Given the description of an element on the screen output the (x, y) to click on. 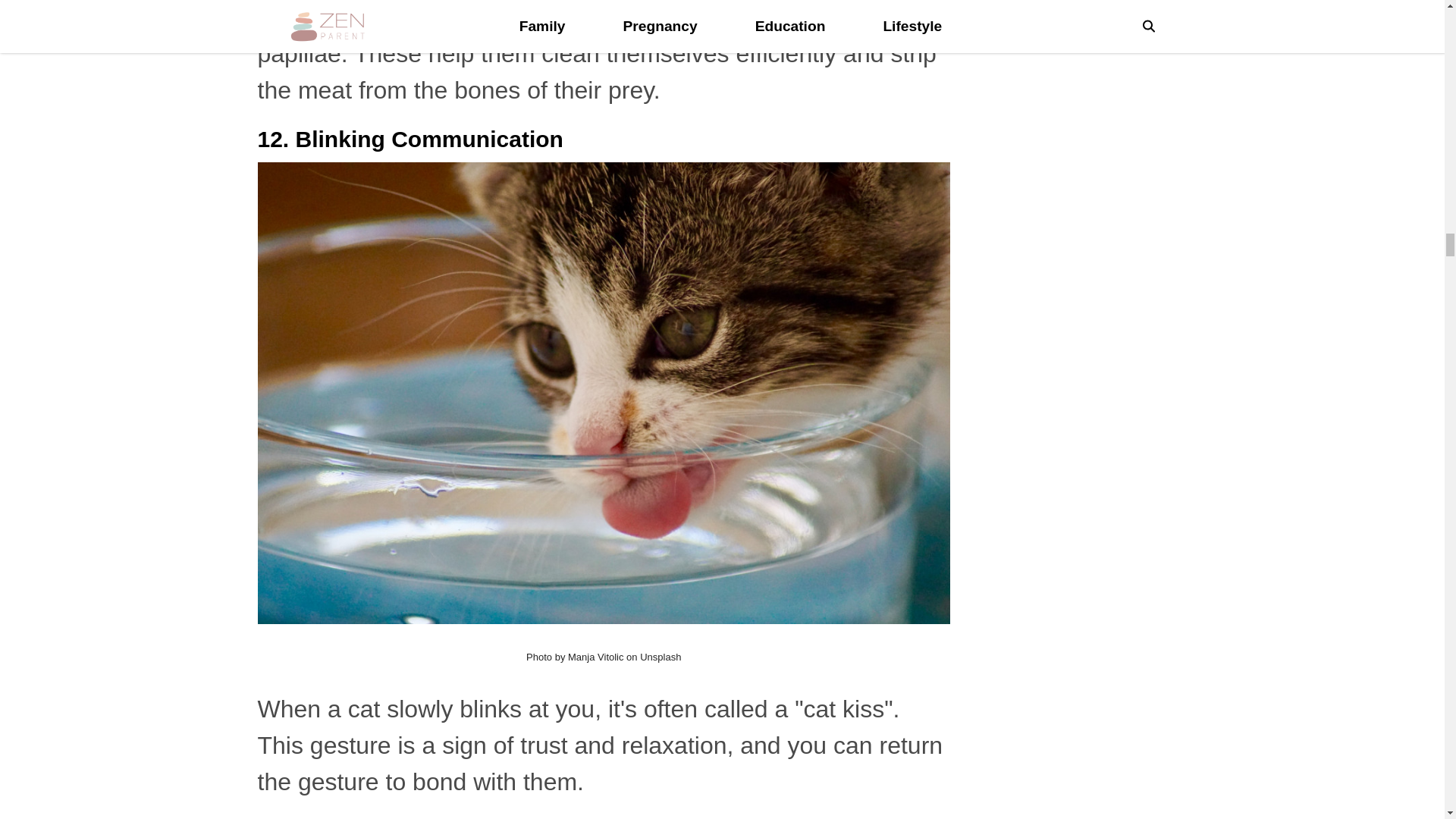
Photo by Manja Vitolic on Unsplash (603, 656)
